Given the description of an element on the screen output the (x, y) to click on. 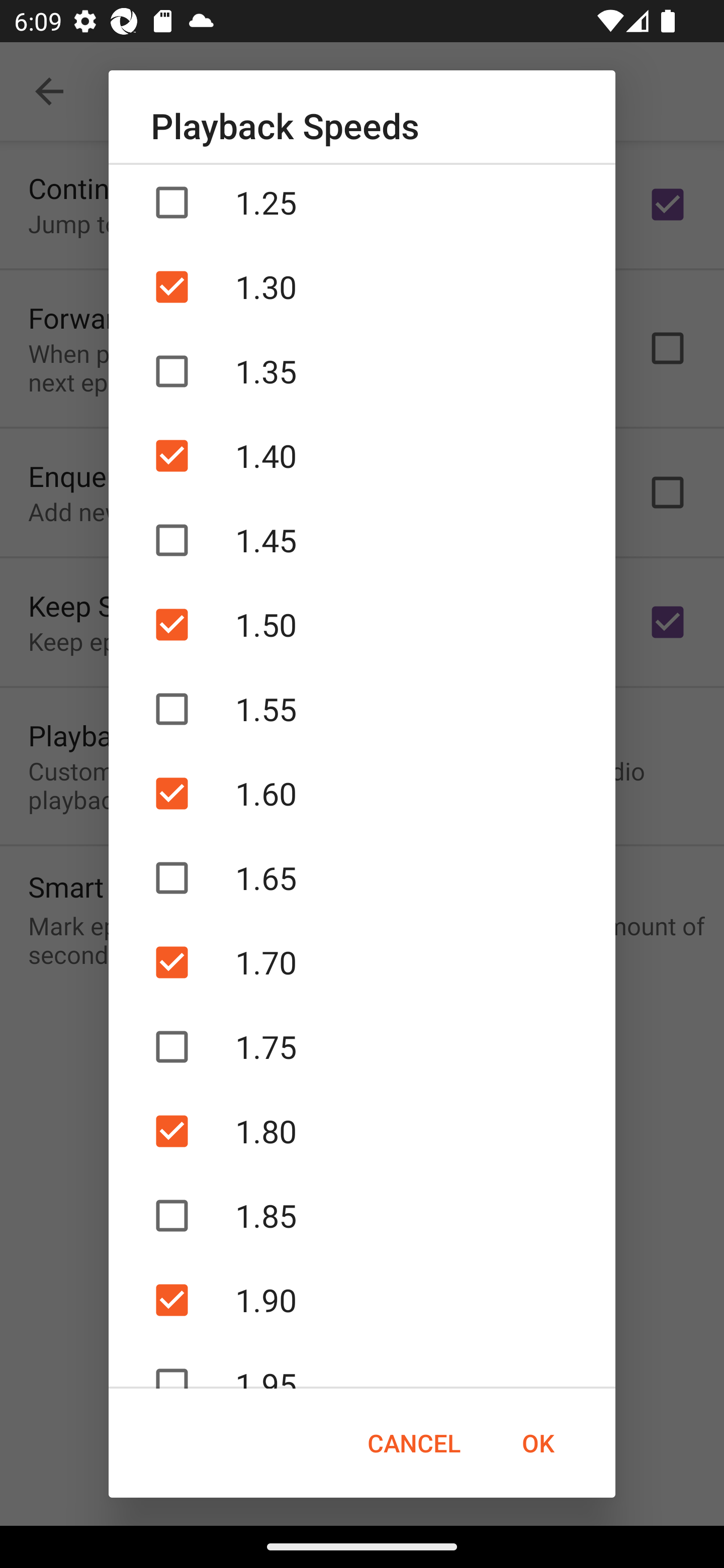
1.25 (361, 203)
1.30 (361, 286)
1.35 (361, 371)
1.40 (361, 455)
1.45 (361, 539)
1.50 (361, 623)
1.55 (361, 708)
1.60 (361, 793)
1.65 (361, 877)
1.70 (361, 962)
1.75 (361, 1047)
1.80 (361, 1130)
1.85 (361, 1214)
1.90 (361, 1299)
CANCEL (413, 1443)
OK (537, 1443)
